Given the description of an element on the screen output the (x, y) to click on. 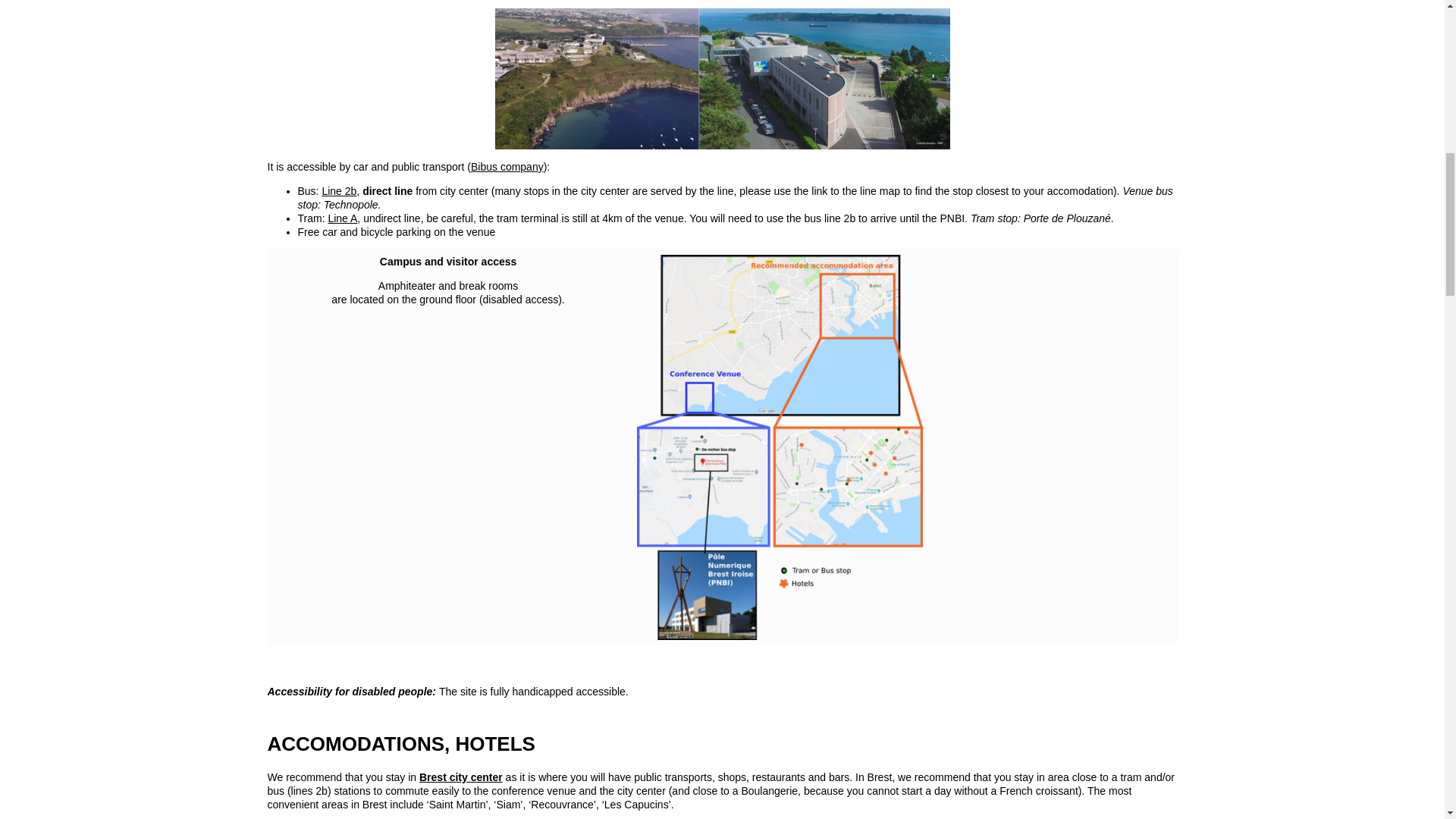
Line 2b (338, 191)
Line A (341, 218)
Brest city center (460, 776)
Bibus company (506, 166)
